Given the description of an element on the screen output the (x, y) to click on. 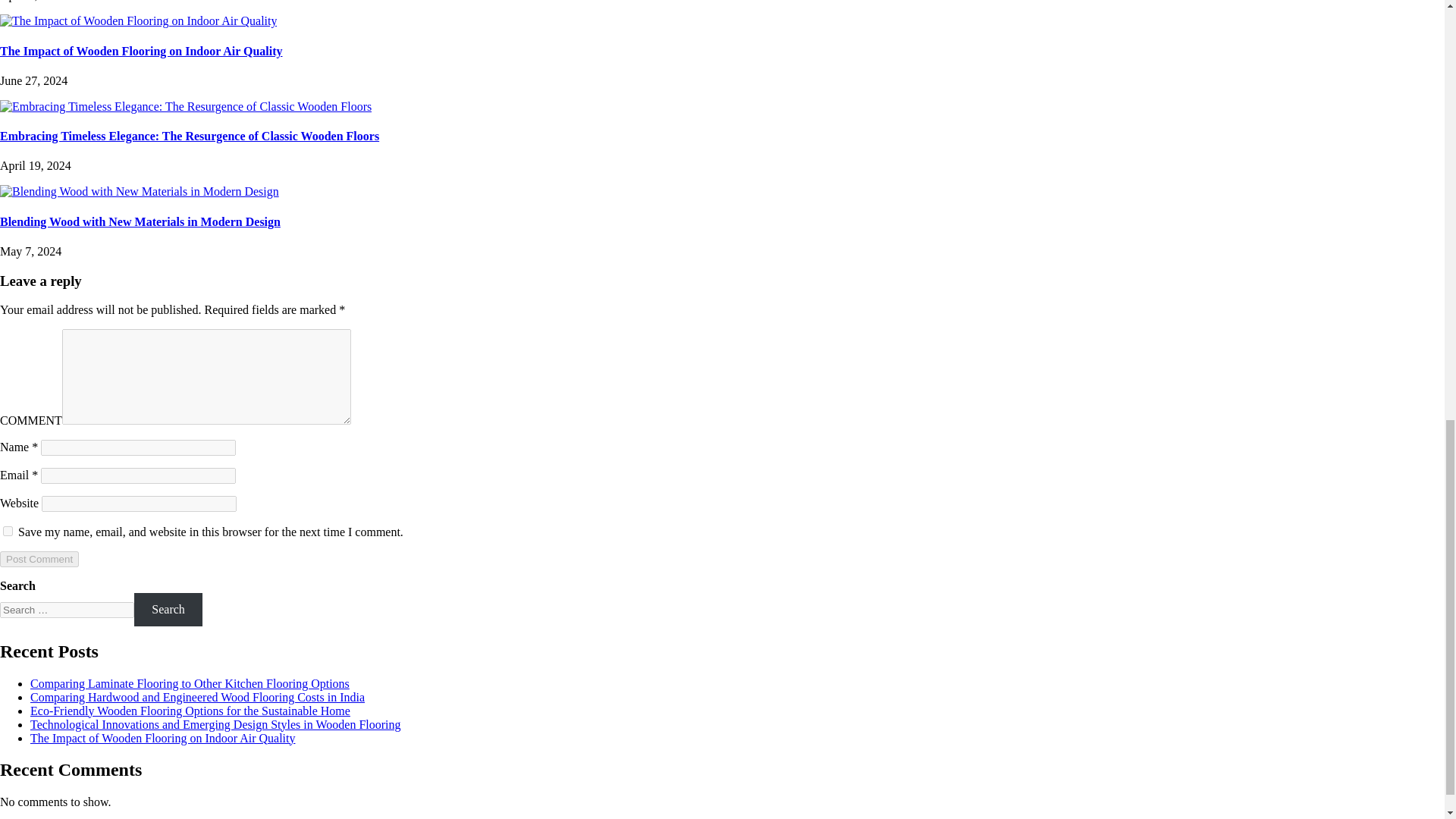
Search (167, 608)
Blending Wood with New Materials in Modern Design (140, 221)
The Impact of Wooden Flooring on Indoor Air Quality (162, 738)
yes (7, 531)
The Impact of Wooden Flooring on Indoor Air Quality (141, 51)
Post Comment (39, 559)
